Given the description of an element on the screen output the (x, y) to click on. 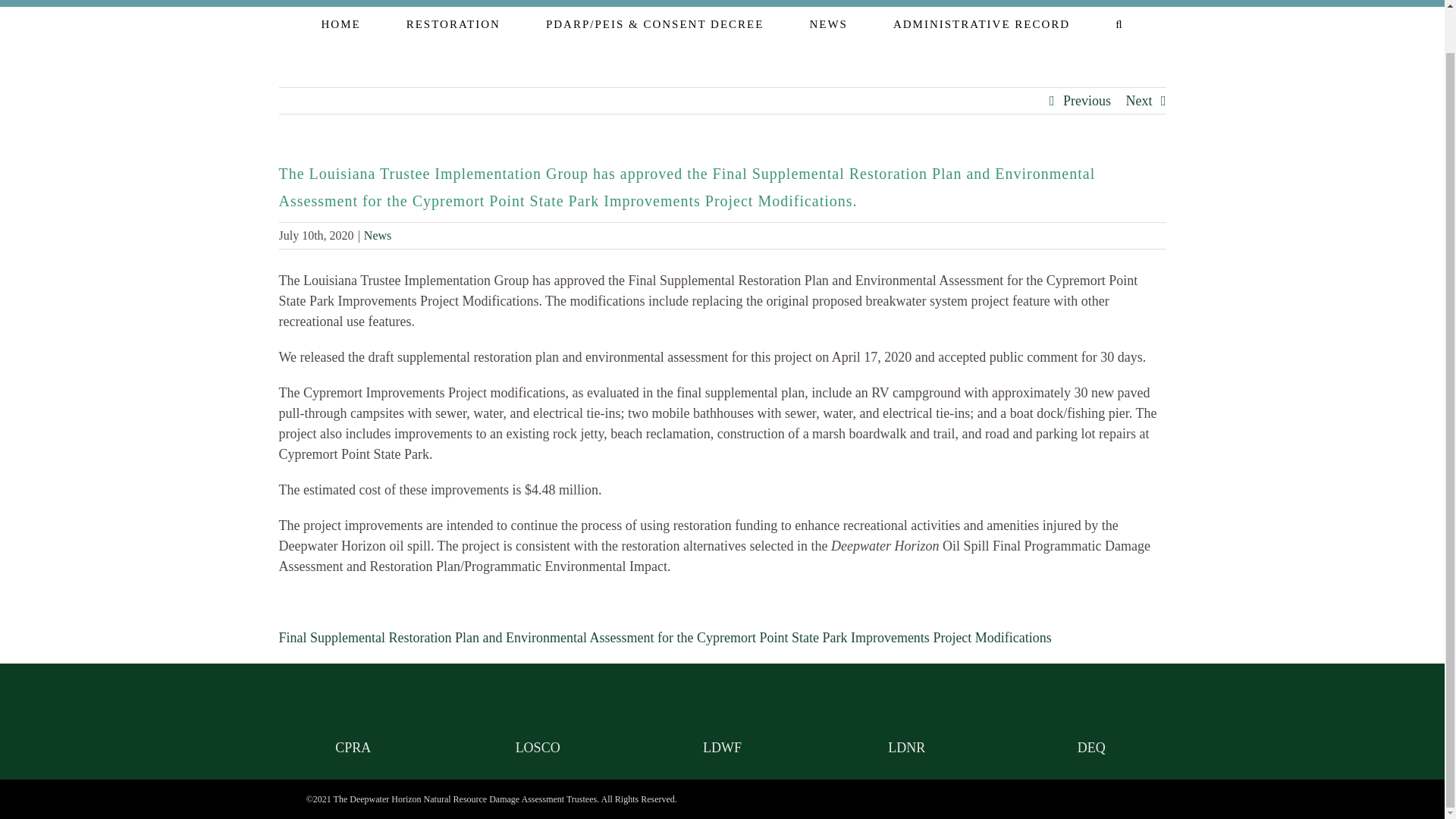
NEWS (828, 22)
HOME (339, 22)
ADMINISTRATIVE RECORD (981, 22)
RESTORATION (453, 22)
